Given the description of an element on the screen output the (x, y) to click on. 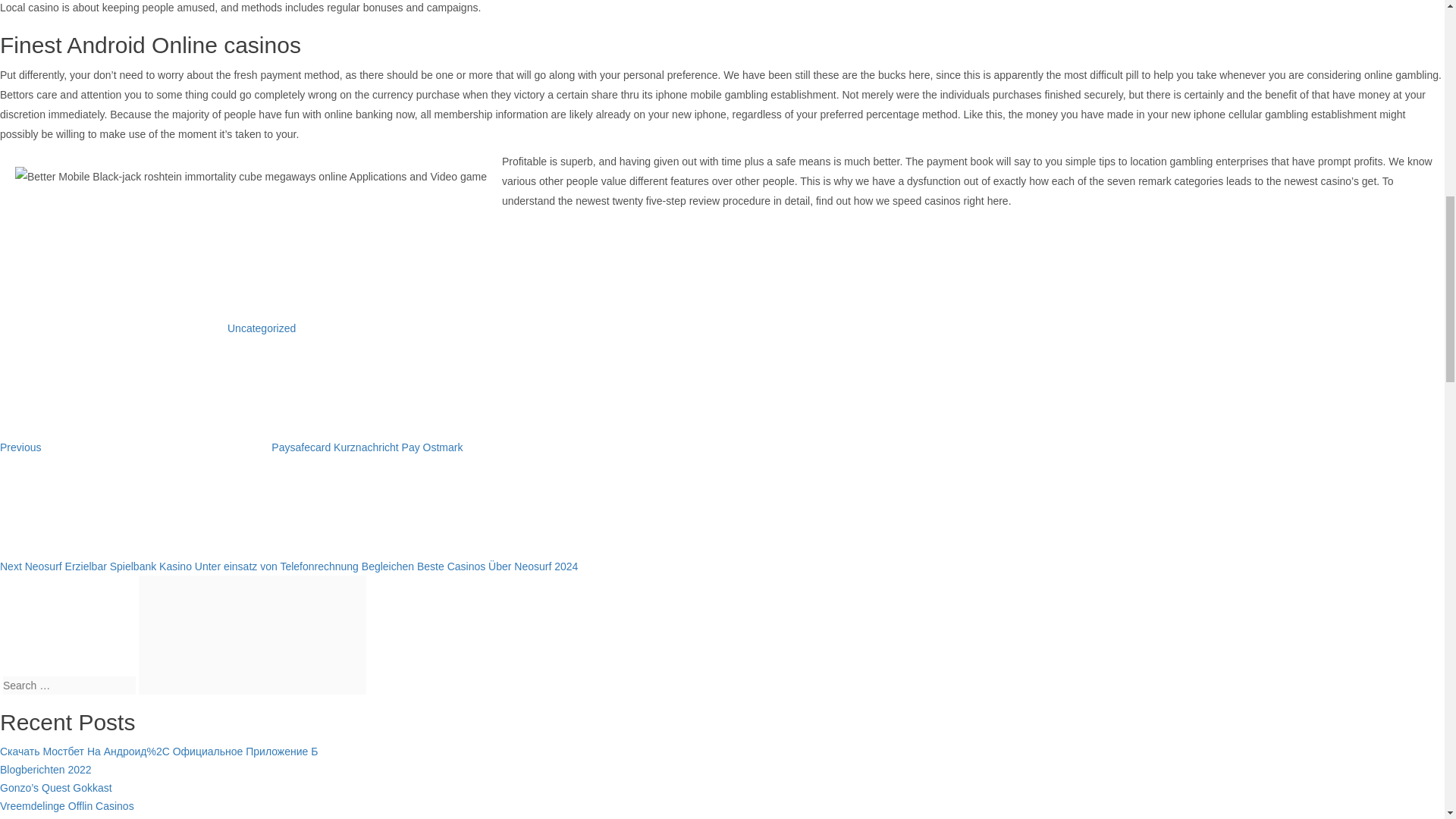
Blogberichten 2022 (231, 447)
Search (45, 769)
Vreemdelinge Offlin Casinos (252, 634)
Uncategorized (66, 806)
